Given the description of an element on the screen output the (x, y) to click on. 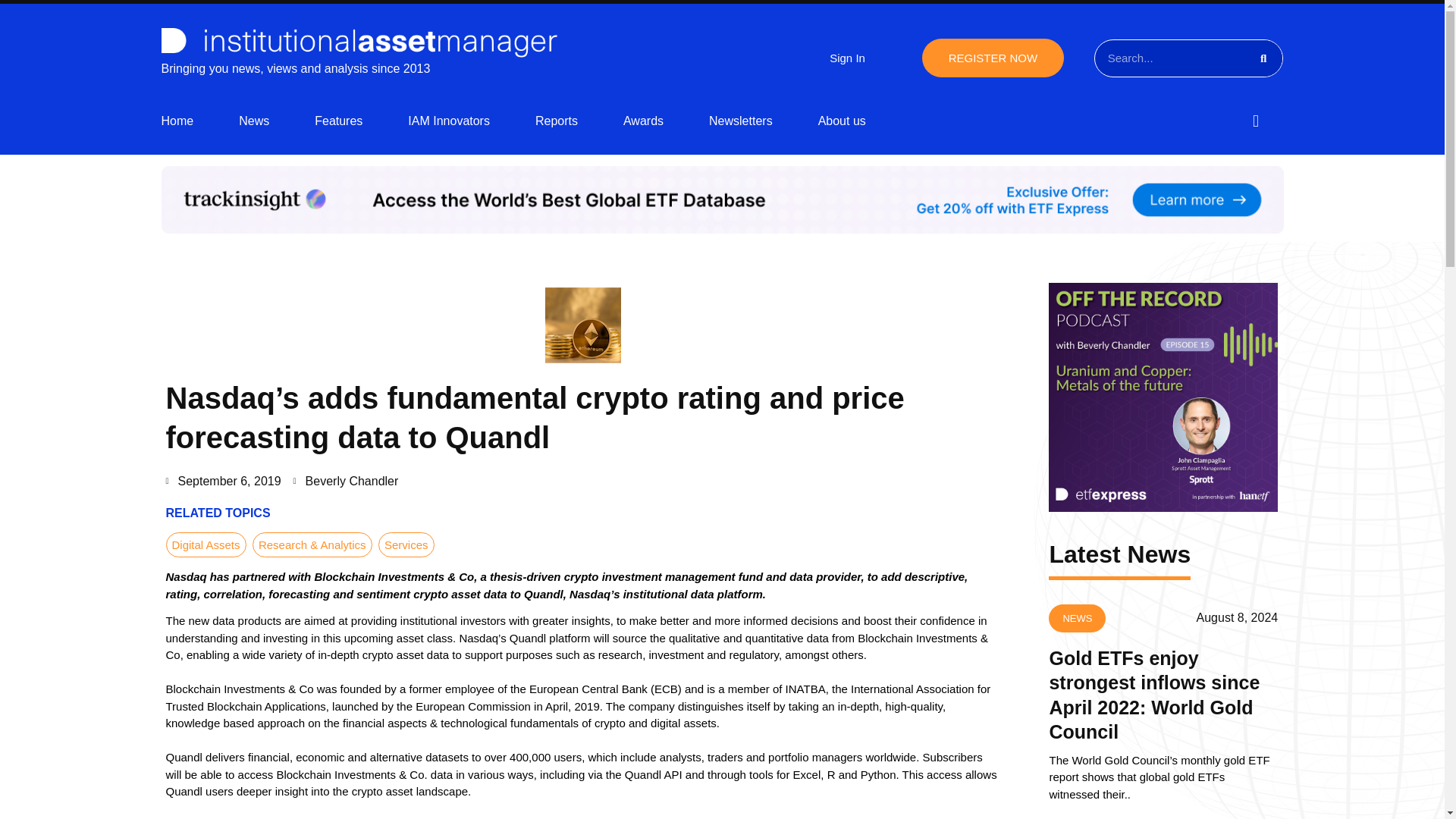
Newsletters (741, 121)
About us (842, 121)
IAM Innovators (448, 121)
Features (338, 121)
Reports (556, 121)
Home (176, 121)
Sign In (847, 57)
Awards (643, 121)
REGISTER NOW (992, 57)
